Given the description of an element on the screen output the (x, y) to click on. 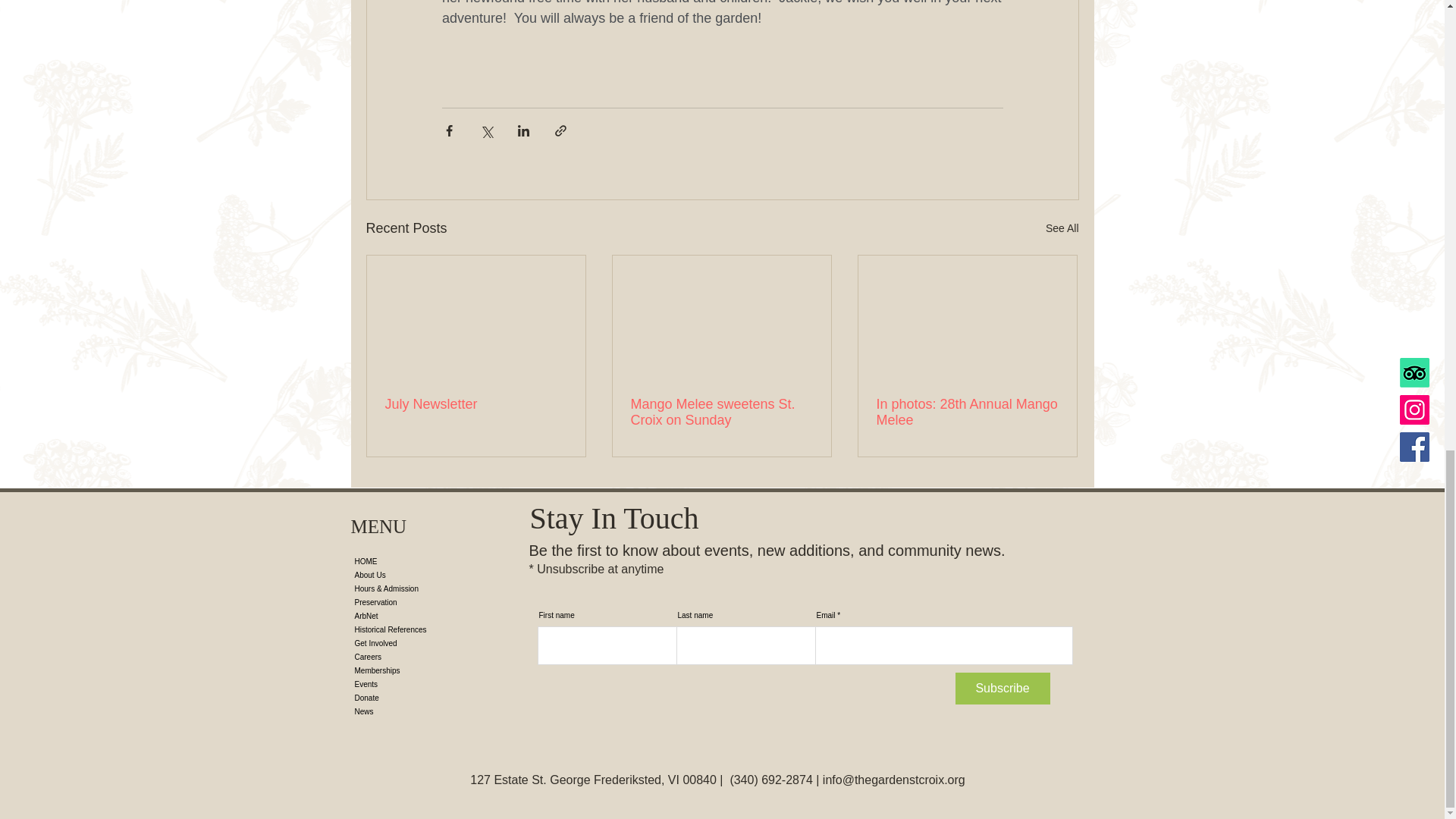
About Us (412, 575)
Events (412, 684)
Memberships (412, 671)
Careers (412, 657)
ArbNet (412, 616)
See All (1061, 228)
HOME (412, 561)
Historical References (412, 630)
Mango Melee sweetens St. Croix on Sunday (721, 412)
Preservation (412, 602)
July Newsletter (476, 404)
In photos: 28th Annual Mango Melee (967, 412)
Get Involved (412, 643)
